Given the description of an element on the screen output the (x, y) to click on. 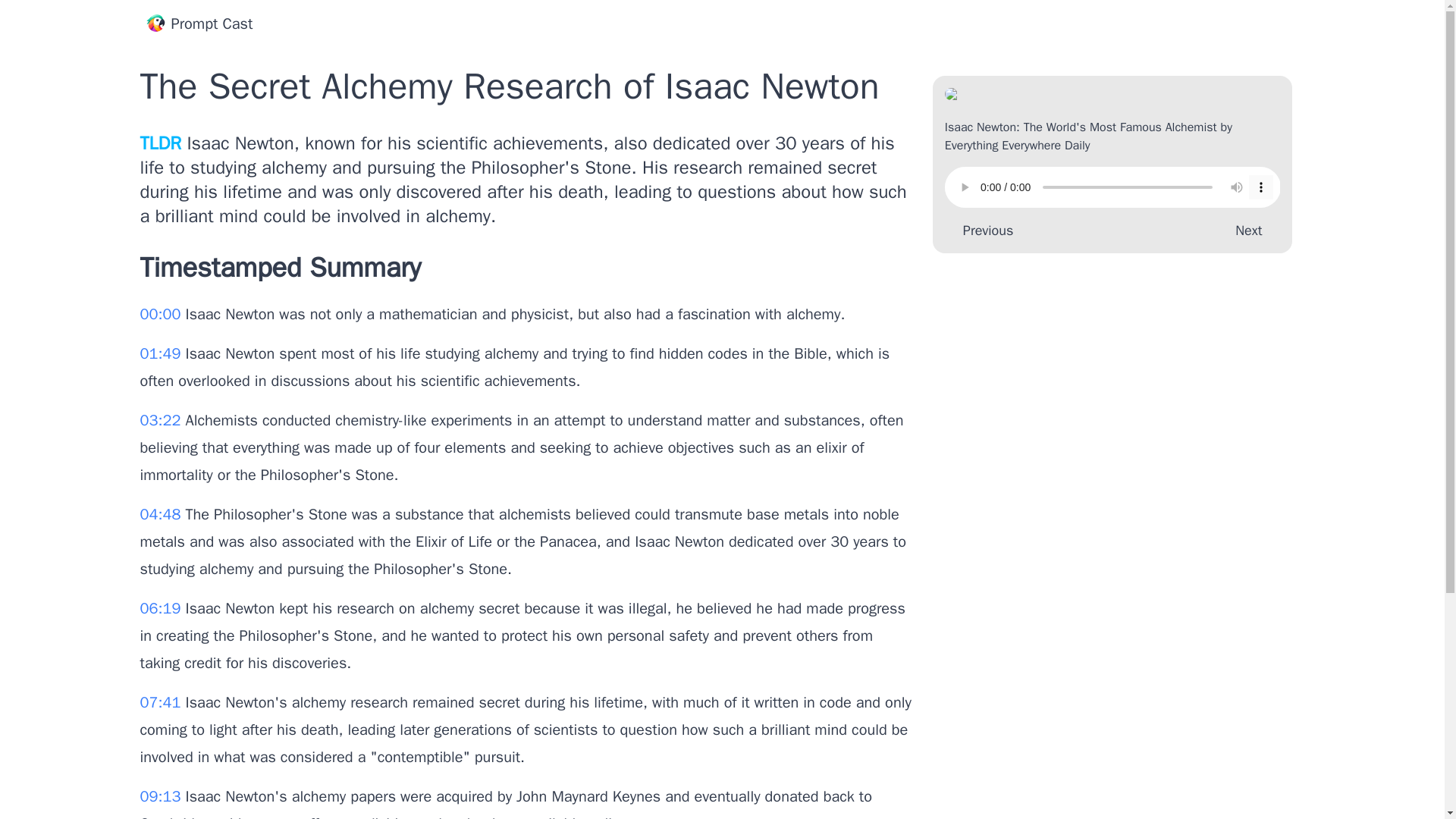
06:19 (161, 608)
09:13 (161, 796)
Previous (984, 230)
Prompt Cast (198, 24)
07:41 (161, 701)
03:22 (161, 420)
00:00 (161, 313)
Next (1251, 230)
04:48 (161, 514)
01:49 (161, 353)
